Given the description of an element on the screen output the (x, y) to click on. 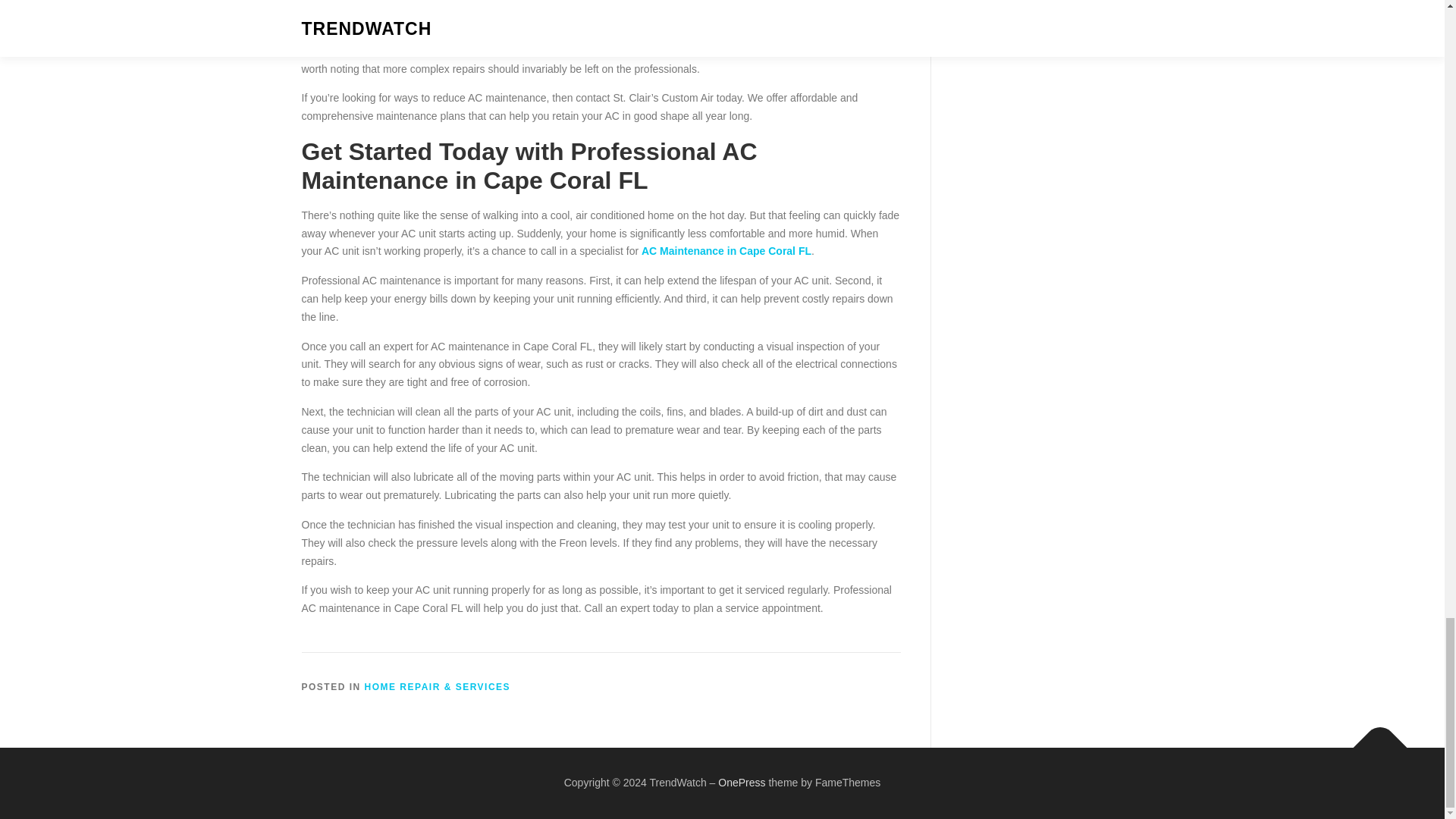
Back To Top (1372, 740)
AC Maintenance in Cape Coral FL (726, 250)
